Given the description of an element on the screen output the (x, y) to click on. 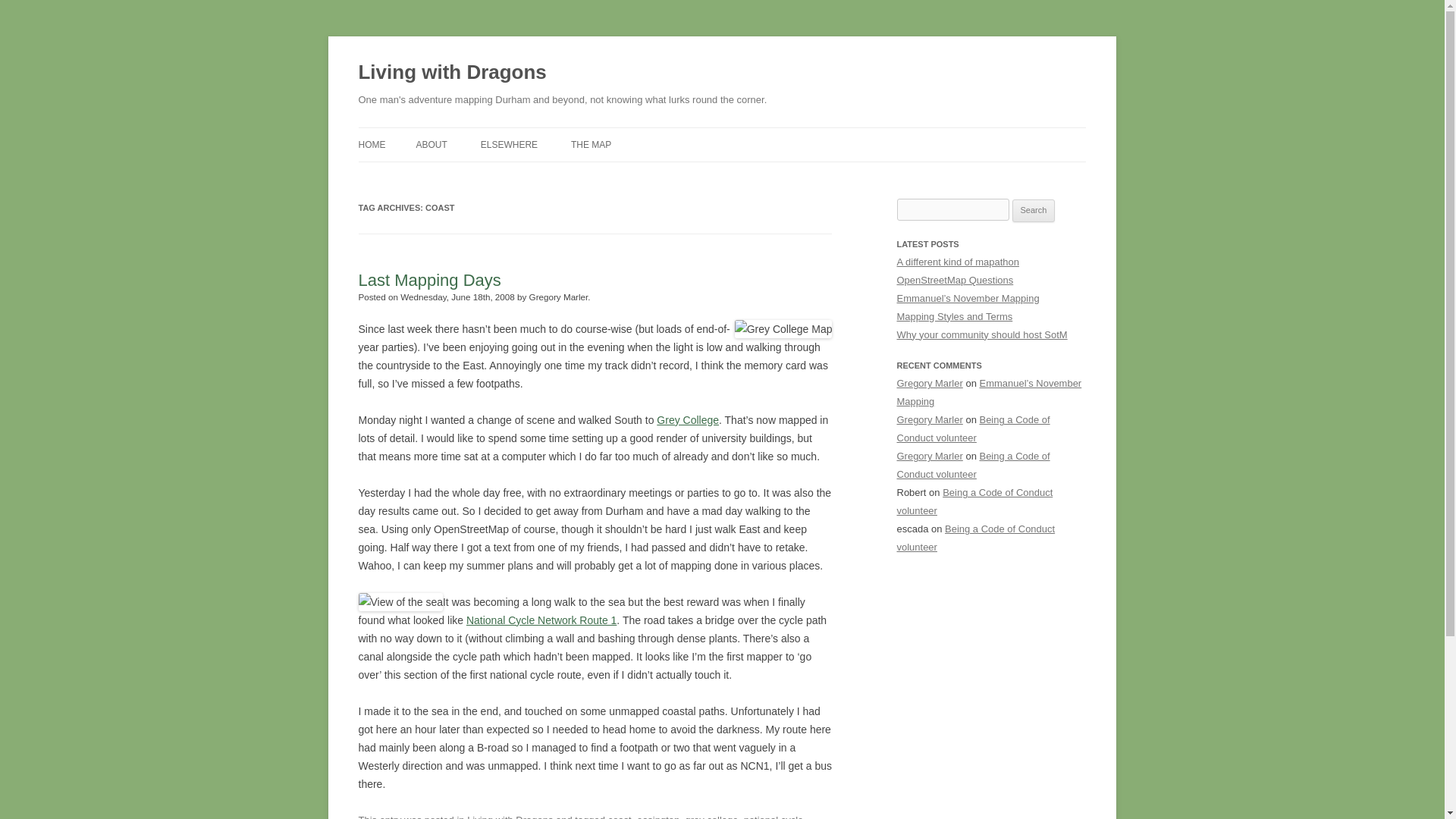
grey college (711, 816)
Search (1033, 210)
National Cycle Network Route 1 (540, 620)
Last Mapping Days (429, 280)
THE MAP (590, 144)
Living with Dragons (510, 816)
Gregory Marler (929, 419)
Being a Code of Conduct volunteer (972, 464)
ELSEWHERE (508, 144)
A different kind of mapathon (956, 261)
Skip to content (757, 132)
Being a Code of Conduct volunteer (972, 428)
Gregory Marler (929, 455)
Grey College (687, 419)
easington (658, 816)
